Given the description of an element on the screen output the (x, y) to click on. 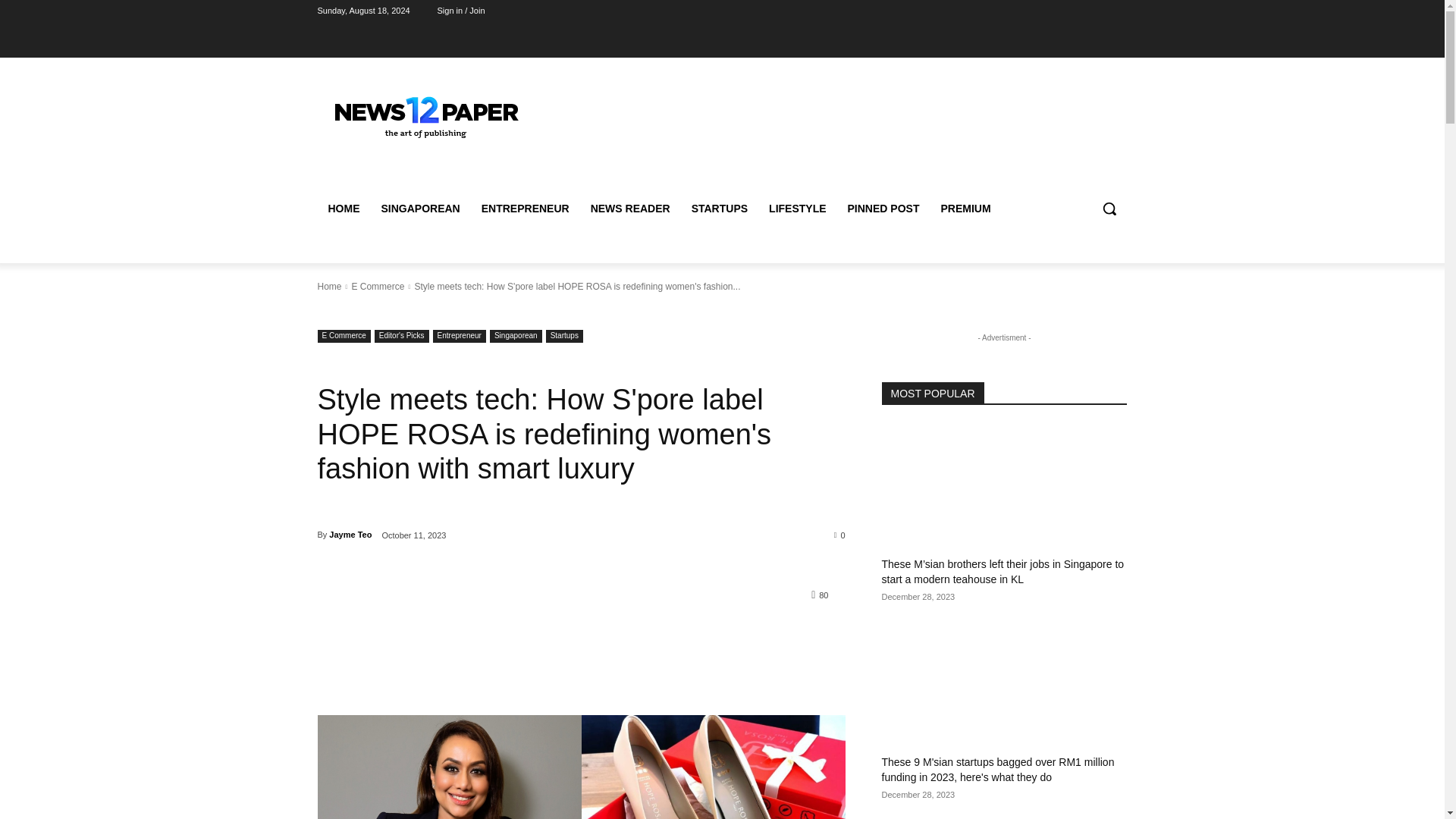
Jayme Teo (350, 534)
LIFESTYLE (796, 208)
Home (328, 286)
PREMIUM (965, 208)
NEWS READER (630, 208)
Startups (564, 336)
View all posts in E Commerce (377, 286)
Editor's Picks (401, 336)
PINNED POST (883, 208)
SINGAPOREAN (419, 208)
